Given the description of an element on the screen output the (x, y) to click on. 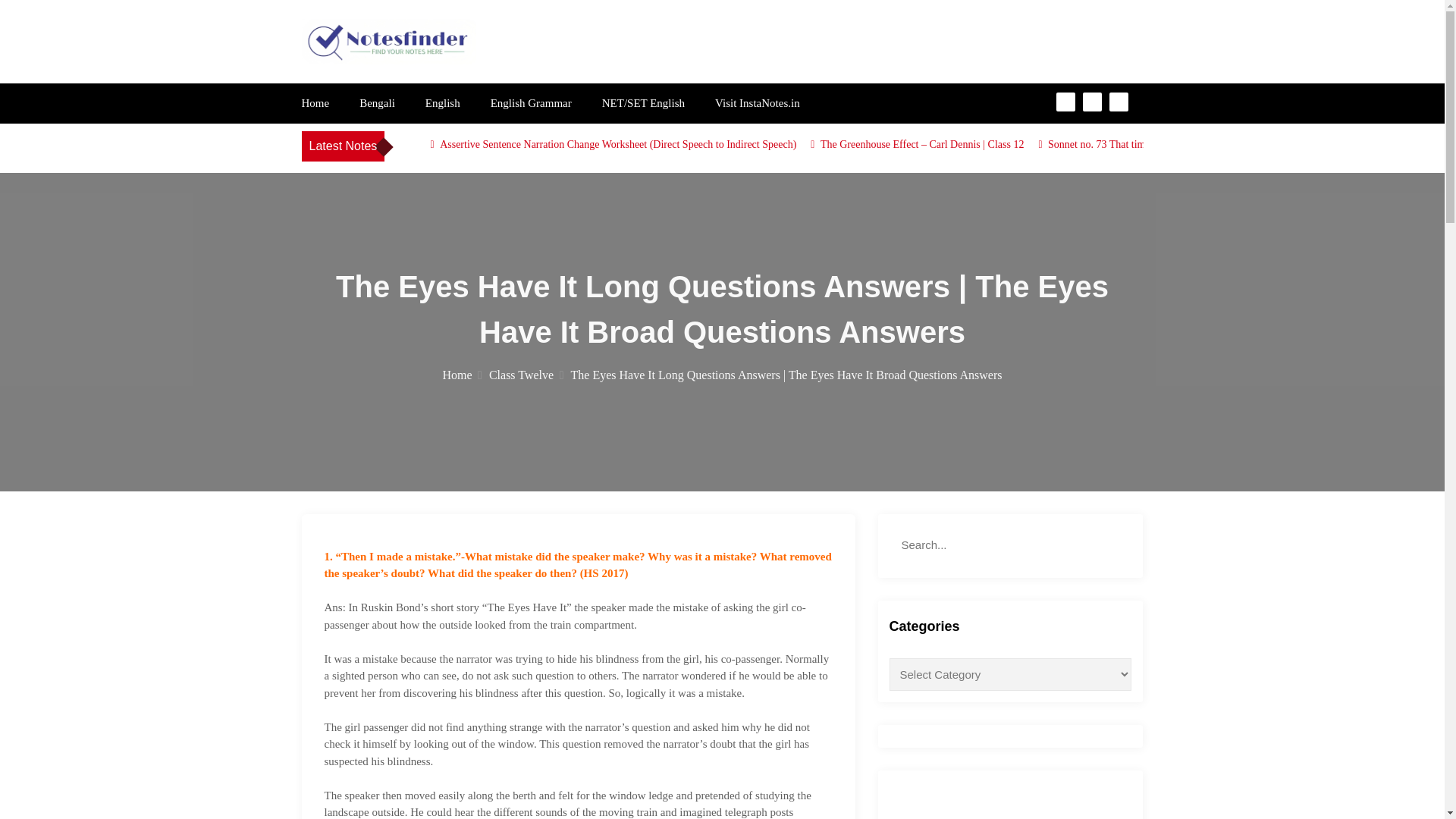
Home (315, 102)
Visit InstaNotes.in (756, 102)
English Grammar (531, 102)
Bengali (376, 102)
Home (461, 374)
Class Twelve (526, 374)
NotesFinder (367, 81)
English (442, 102)
